Given the description of an element on the screen output the (x, y) to click on. 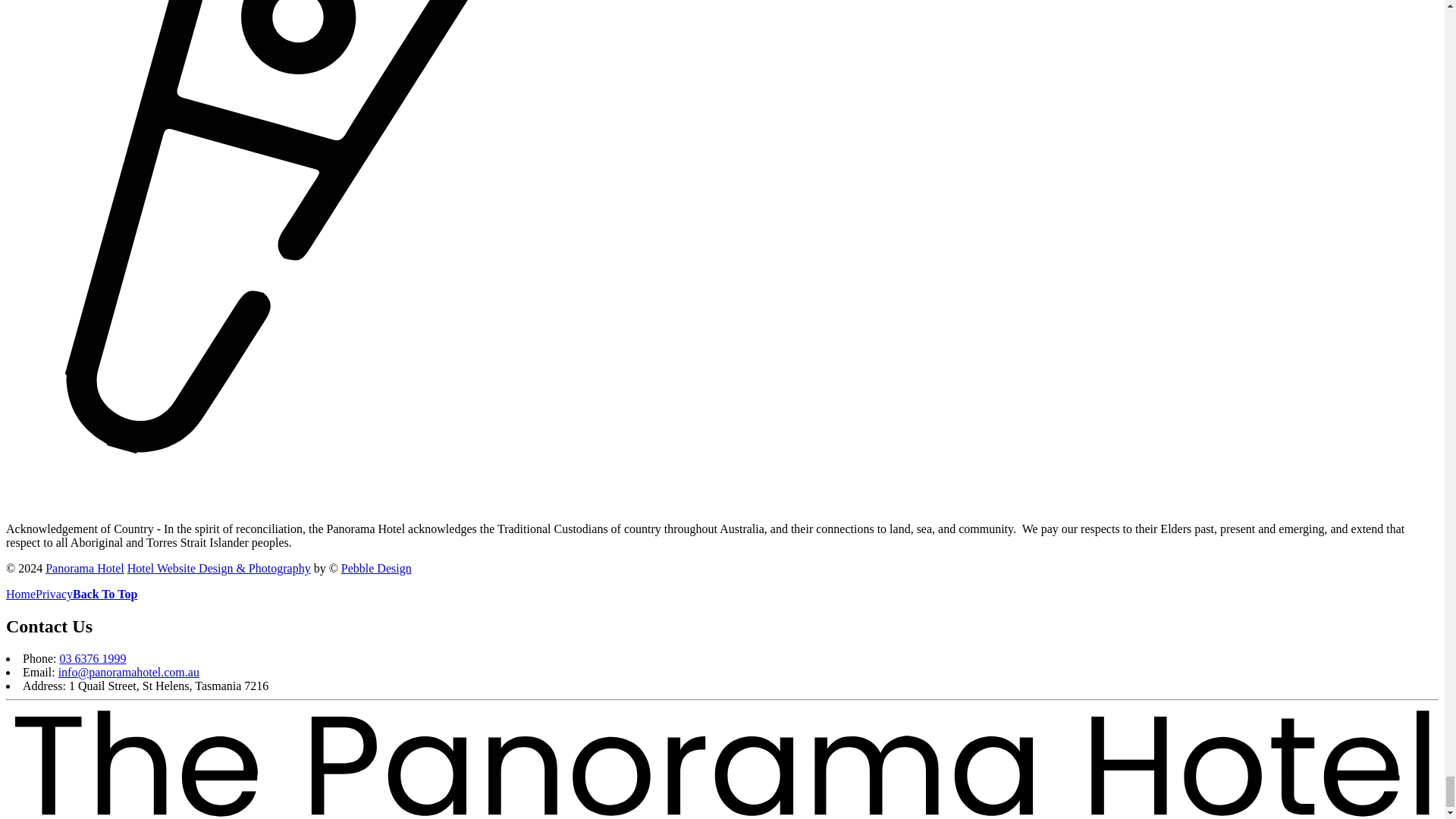
Email Us (128, 671)
Hotel Website Design (219, 567)
Call Us (92, 658)
